Given the description of an element on the screen output the (x, y) to click on. 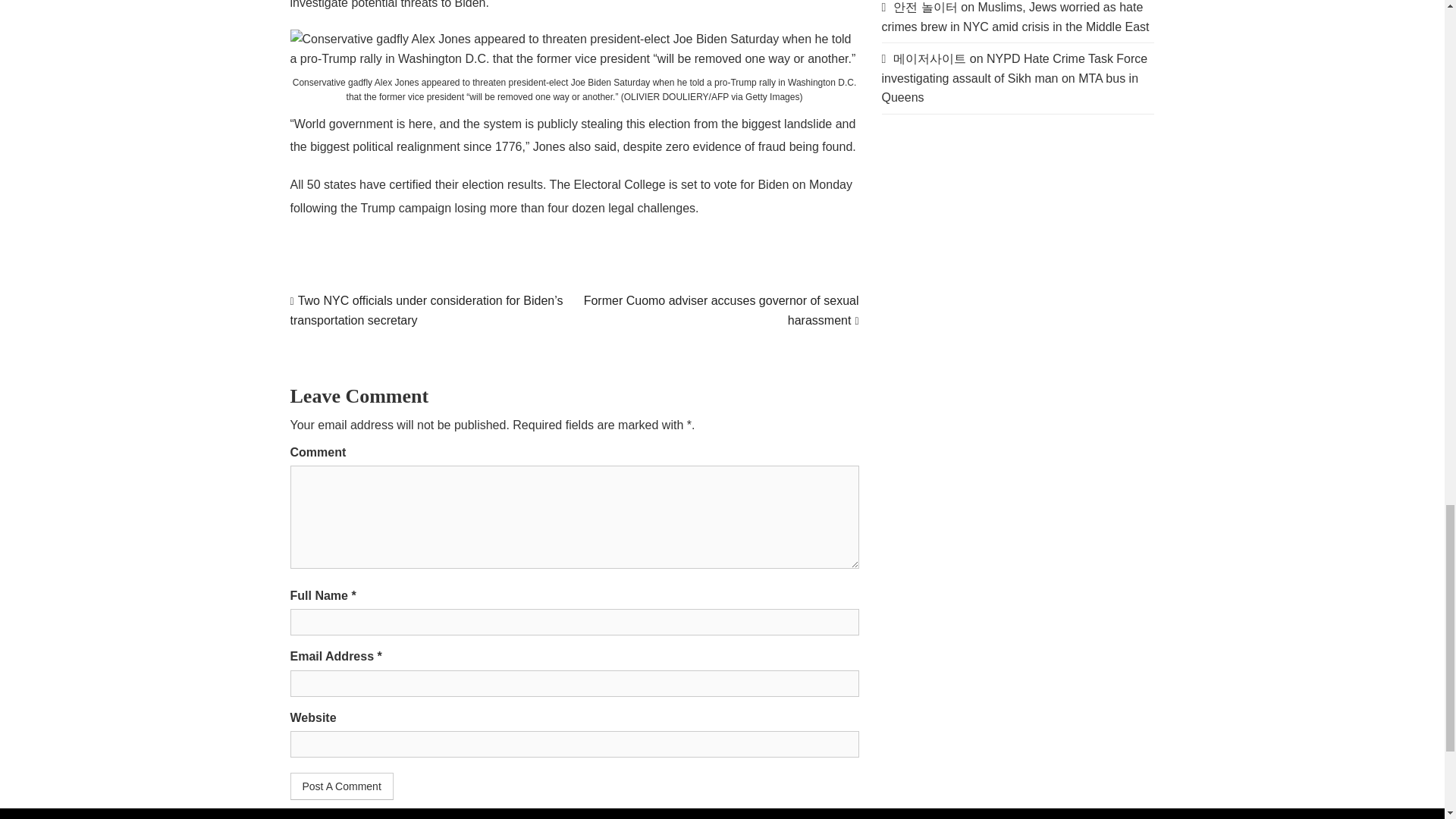
Post A Comment (341, 786)
Former Cuomo adviser accuses governor of sexual harassment (721, 310)
Post A Comment (341, 786)
